Given the description of an element on the screen output the (x, y) to click on. 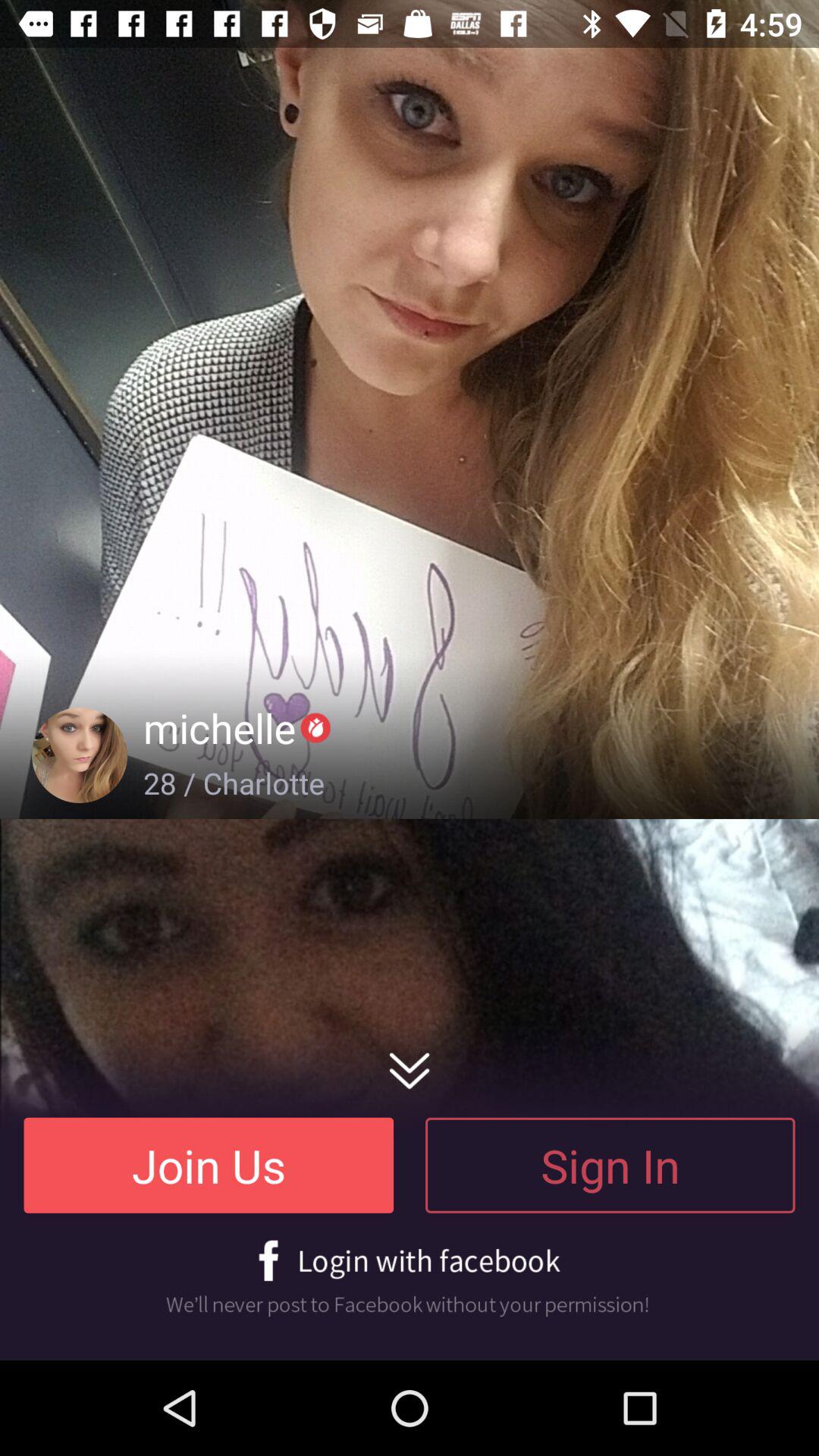
facebook login (409, 1278)
